Given the description of an element on the screen output the (x, y) to click on. 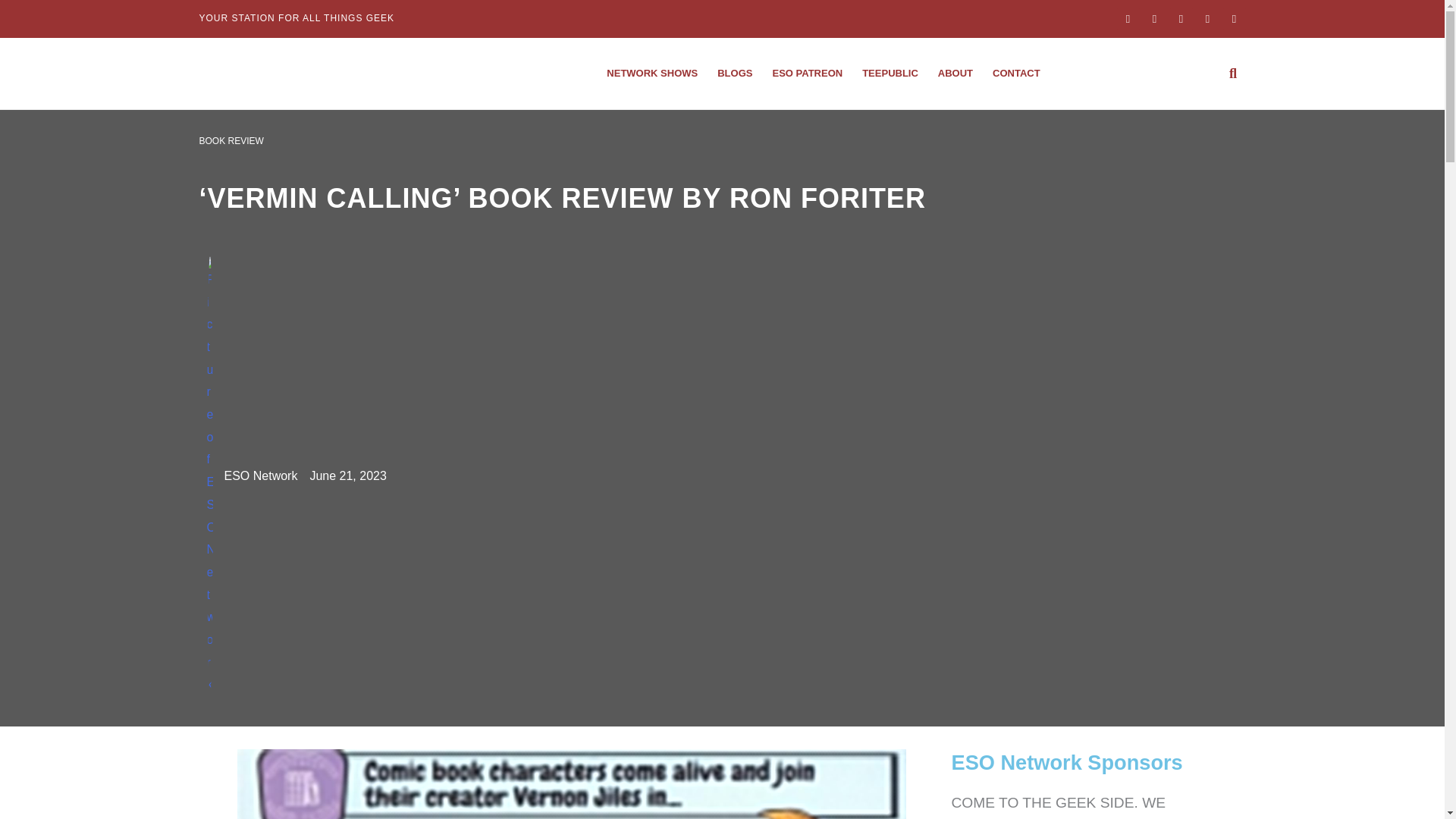
Twitter (1180, 18)
Facebook-f (1127, 18)
ABOUT (955, 73)
BOOK REVIEW (230, 140)
Youtube (1208, 18)
Pinterest-p (1233, 18)
CONTACT (1015, 73)
Patreon (806, 73)
BLOGS (734, 73)
TEEPUBLIC (889, 73)
